Given the description of an element on the screen output the (x, y) to click on. 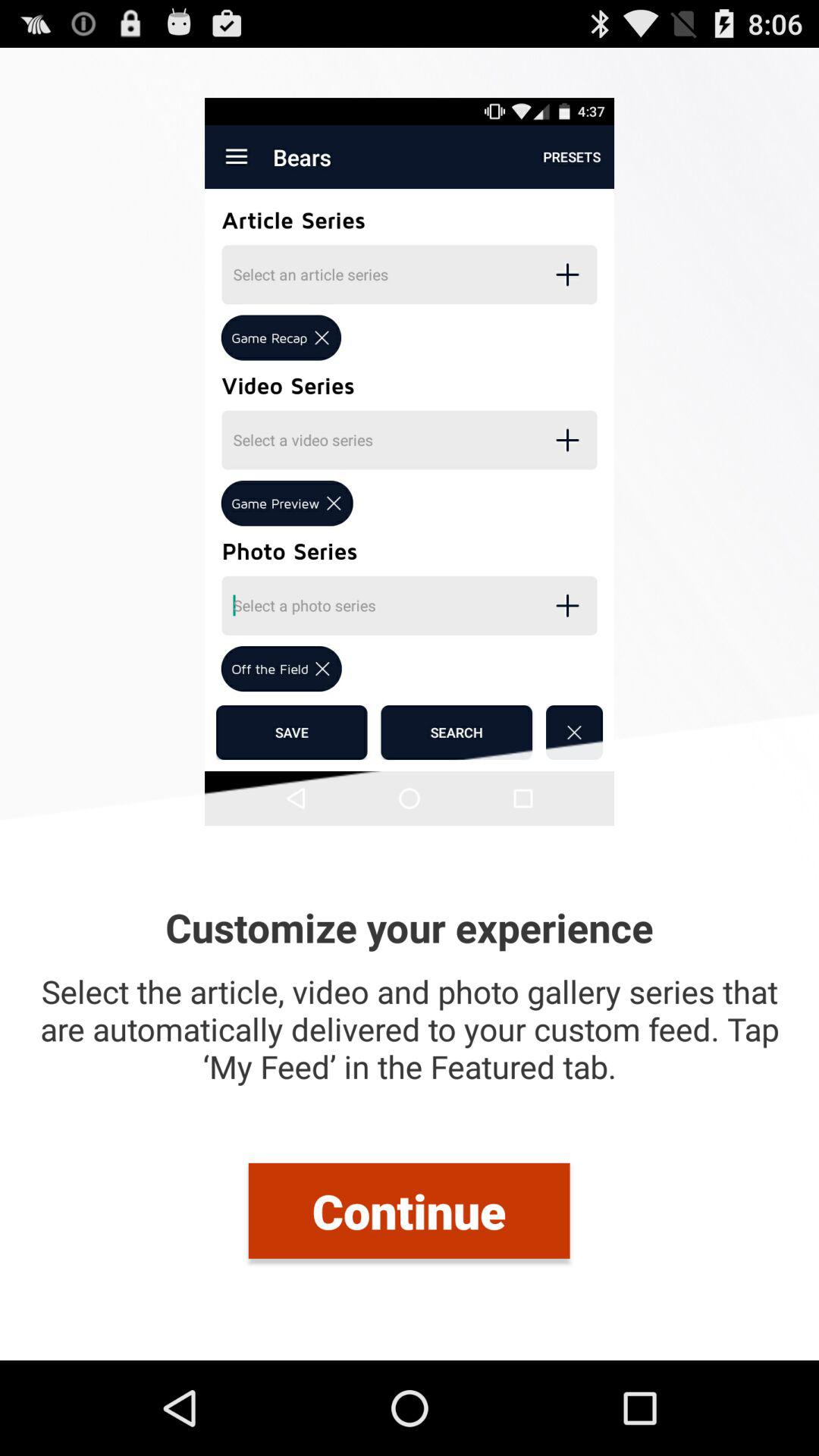
turn off the continue icon (408, 1210)
